Given the description of an element on the screen output the (x, y) to click on. 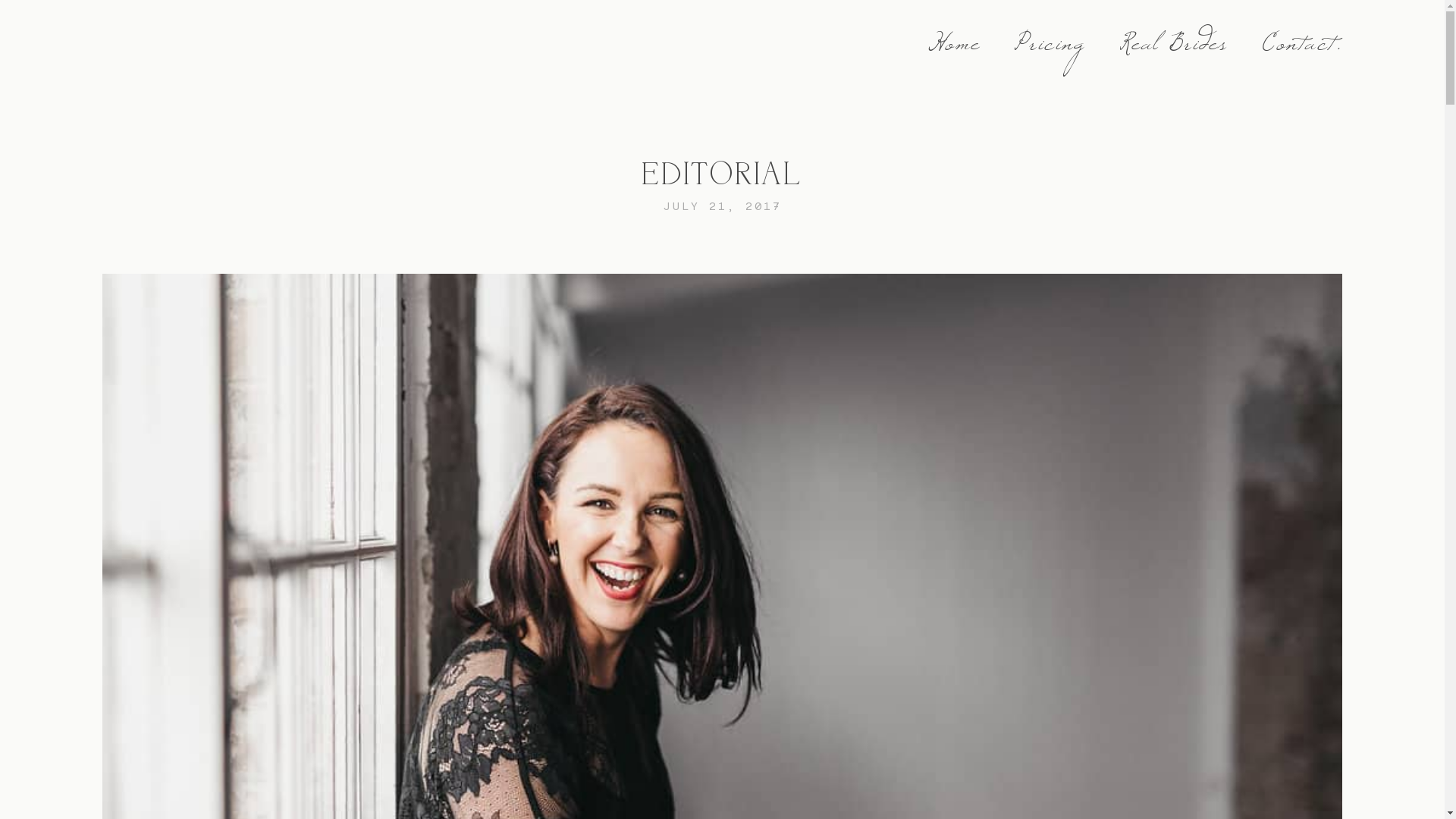
Home Element type: text (954, 51)
Real Brides Element type: text (1173, 51)
Pricing Element type: text (1049, 51)
Contact. Element type: text (1301, 51)
